Given the description of an element on the screen output the (x, y) to click on. 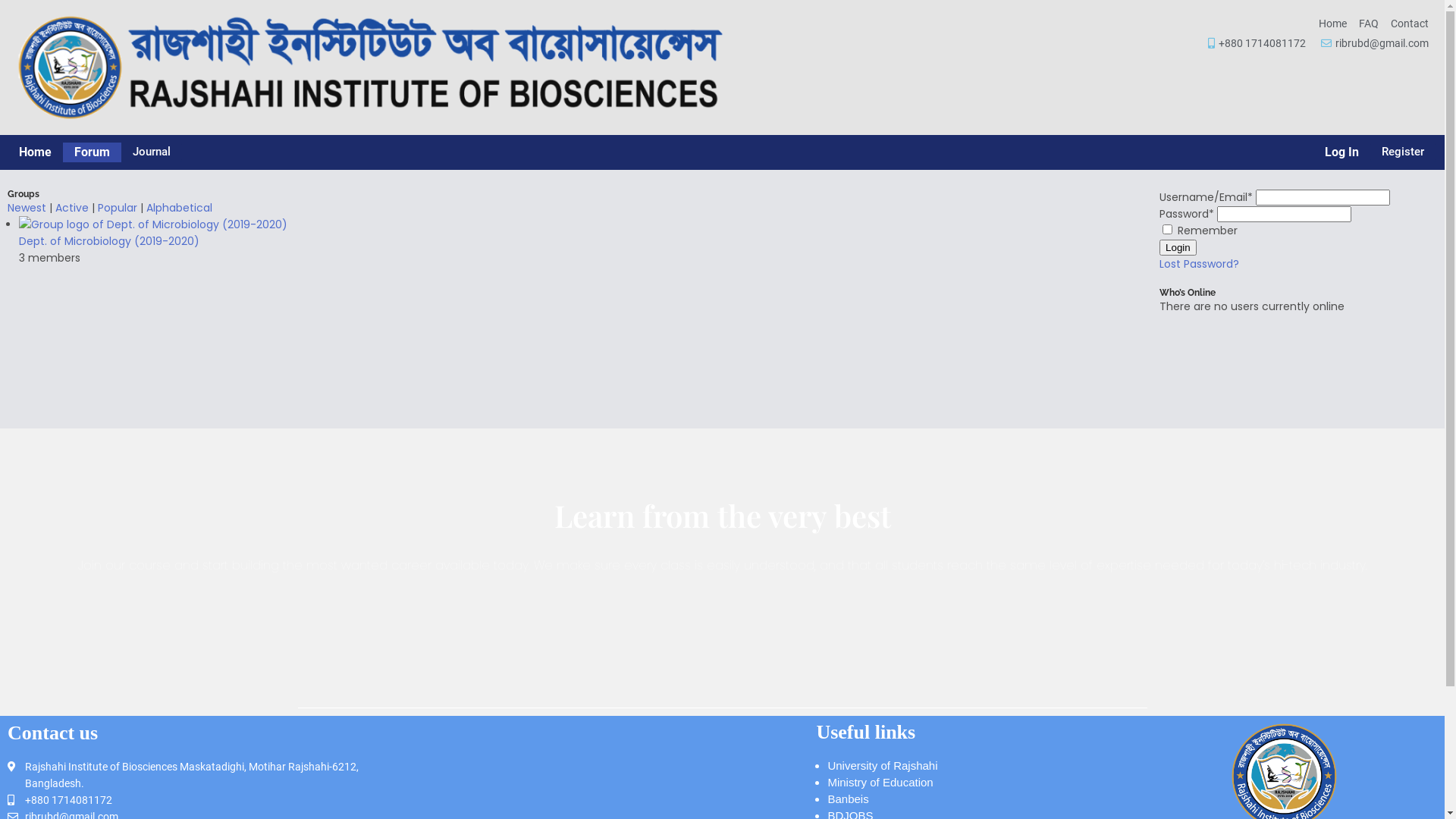
Popular Element type: text (117, 207)
Login Element type: text (1177, 247)
Ministry of Education Element type: text (879, 781)
Home Element type: text (34, 152)
Alphabetical Element type: text (179, 207)
Banbeis Element type: text (847, 798)
University of Rajshahi Element type: text (882, 765)
Dept. of Microbiology (2019-2020) Element type: text (108, 240)
Contact Element type: text (1409, 23)
Newest Element type: text (26, 207)
Home Element type: text (1332, 23)
Forum Element type: text (91, 152)
Active Element type: text (71, 207)
Register Element type: text (1402, 151)
Lost Password? Element type: text (1199, 263)
Log In Element type: text (1341, 152)
FAQ Element type: text (1368, 23)
Journal Element type: text (151, 151)
